Given the description of an element on the screen output the (x, y) to click on. 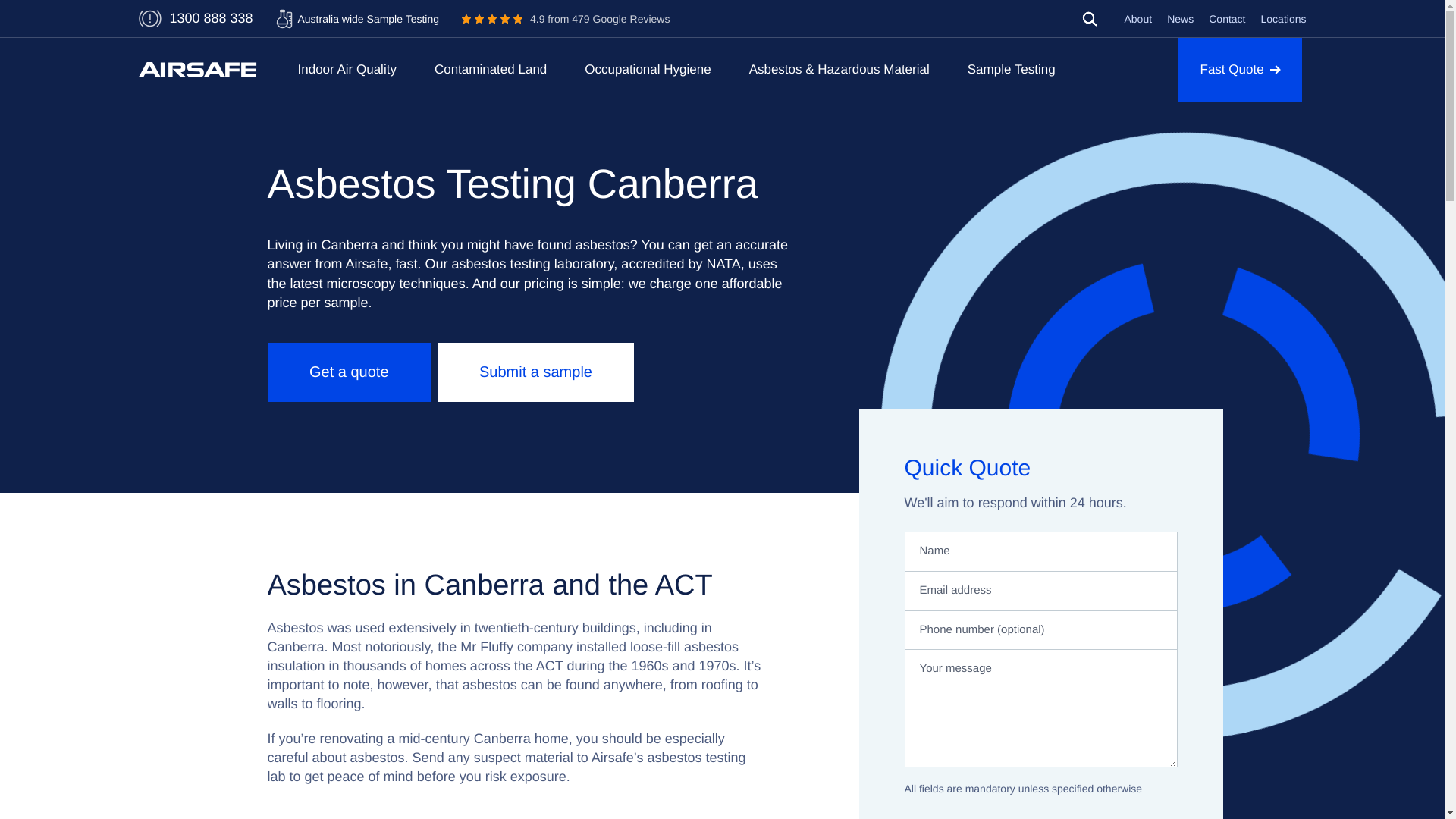
Lab testing icon Australia wide Sample Testing (357, 19)
1300 888 338 (209, 18)
4.9 from 479 Google Reviews (565, 19)
Warning light icon (149, 18)
Contaminated Land (490, 69)
Search icon (1088, 18)
Indoor Air Quality (1088, 20)
Occupational Hygiene (346, 69)
Search icon (647, 69)
Skip to Content (1088, 18)
